Given the description of an element on the screen output the (x, y) to click on. 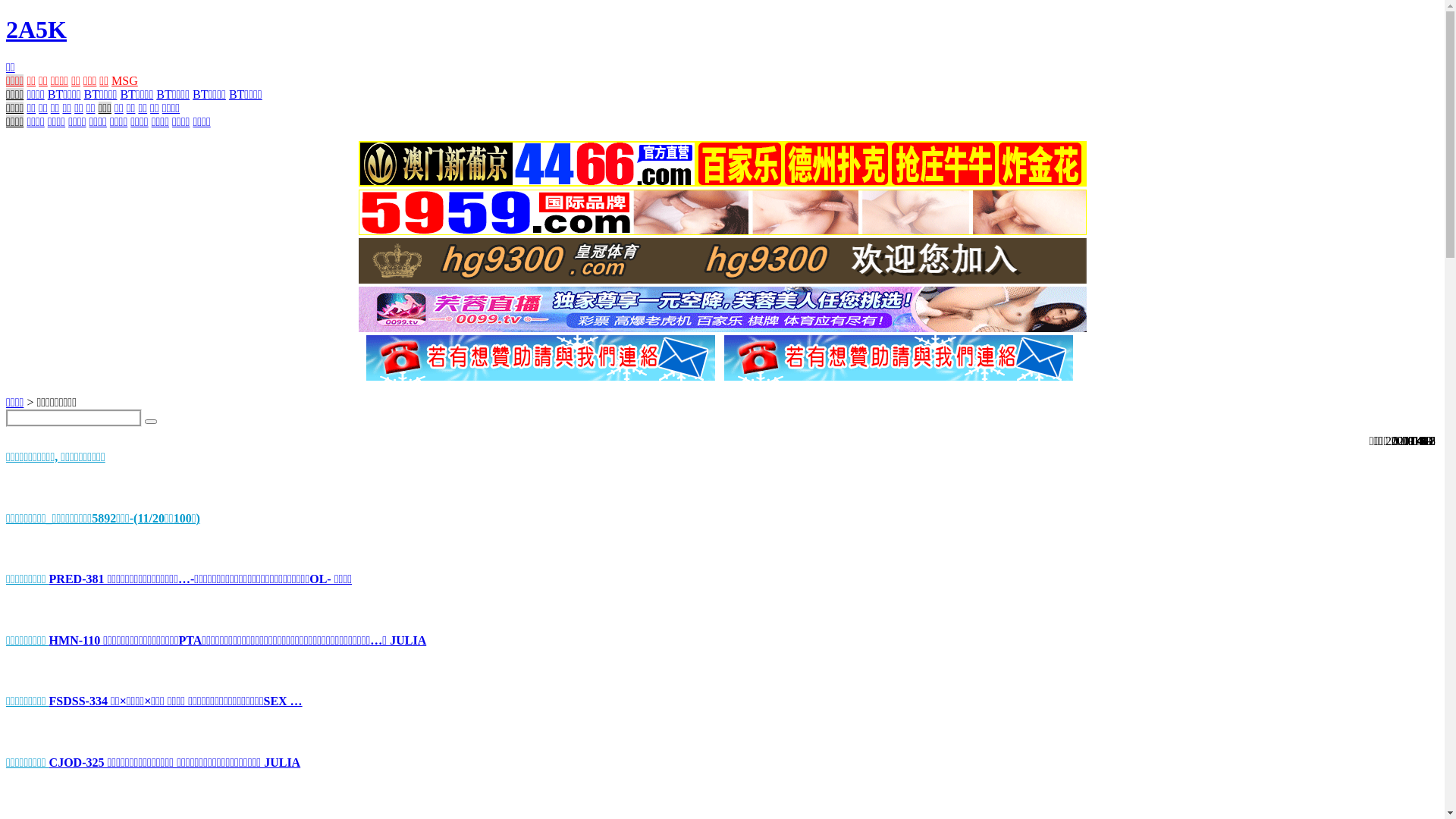
2A5K Element type: text (36, 29)
MSG Element type: text (124, 80)
